Given the description of an element on the screen output the (x, y) to click on. 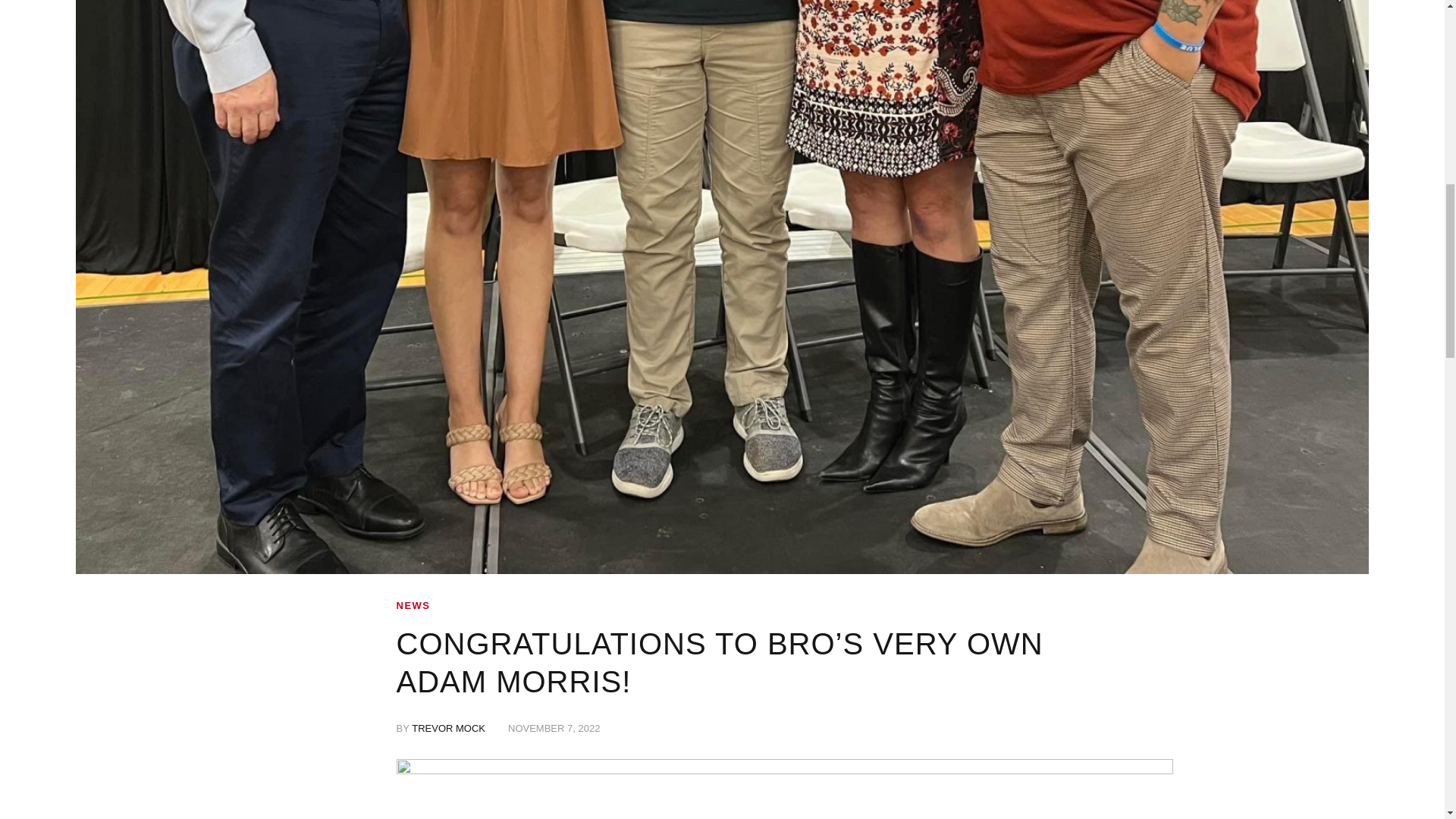
Posts by Trevor Mock (448, 728)
image - Black Rain Ordnance, Inc. (784, 787)
